Given the description of an element on the screen output the (x, y) to click on. 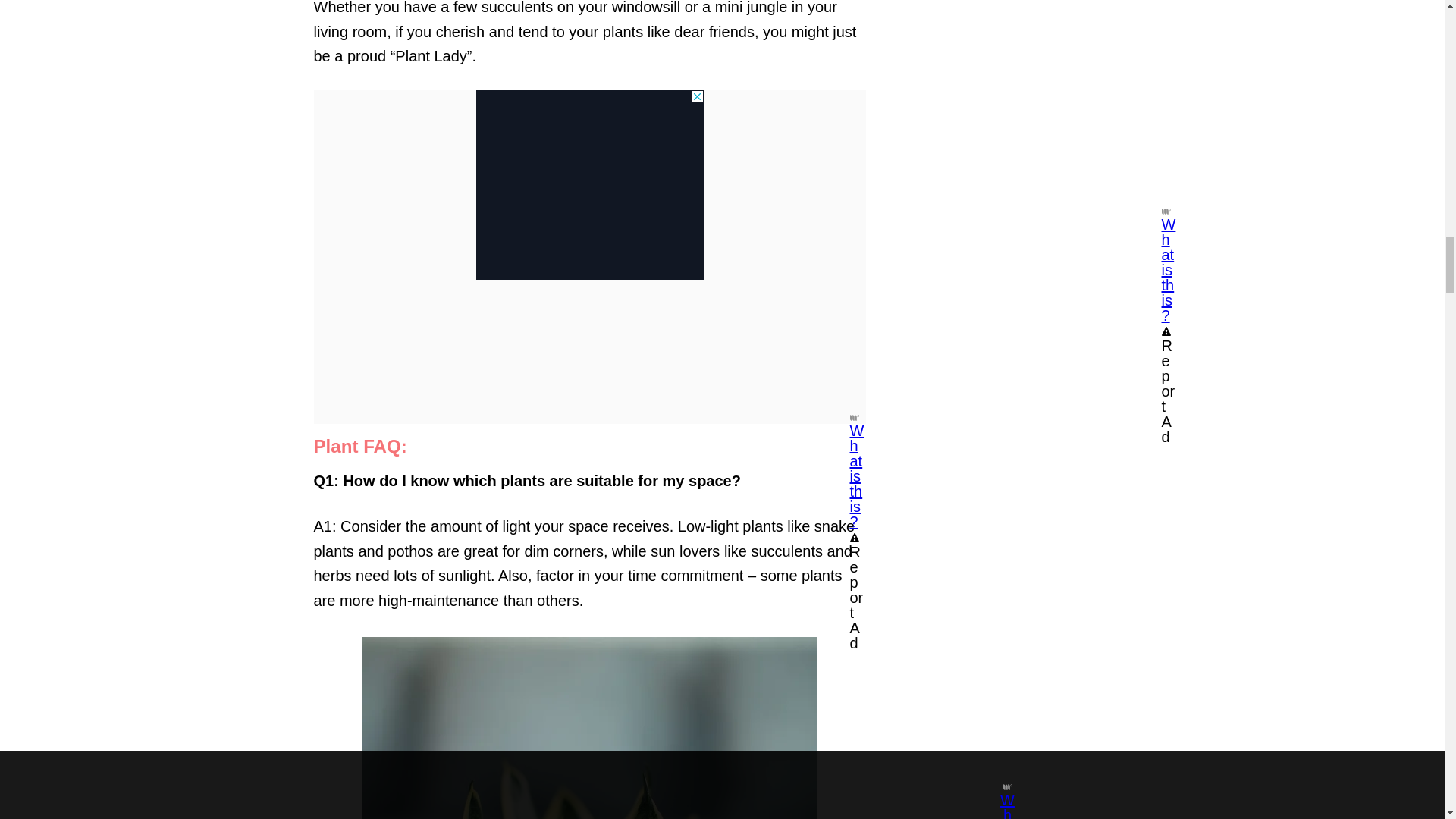
3rd party ad content (589, 185)
